Given the description of an element on the screen output the (x, y) to click on. 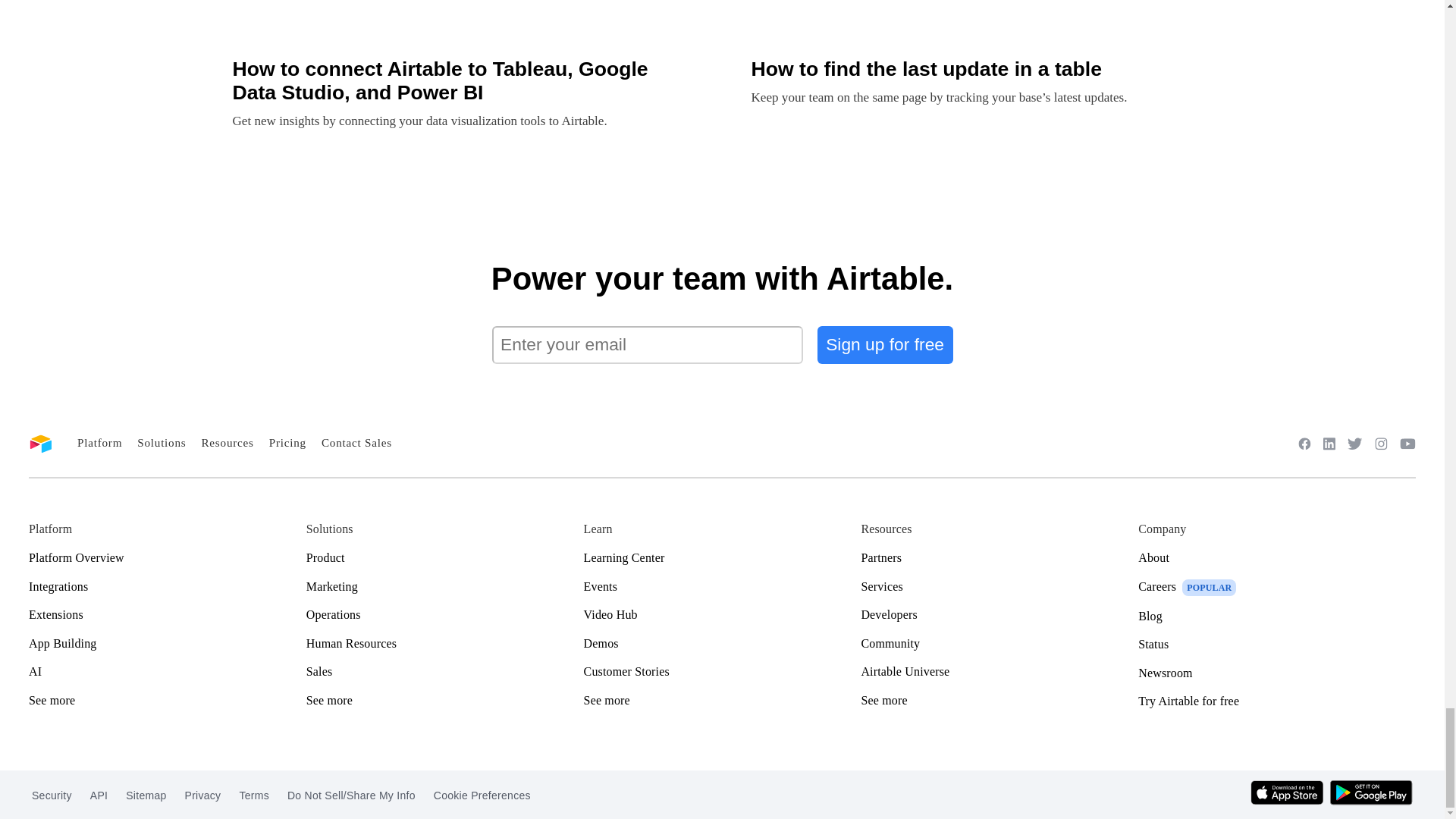
Resources (226, 441)
Pricing (287, 441)
Solutions (161, 441)
Sign up for free (884, 344)
Contact Sales (356, 441)
Sign up for free (884, 344)
Platform (99, 441)
